Given the description of an element on the screen output the (x, y) to click on. 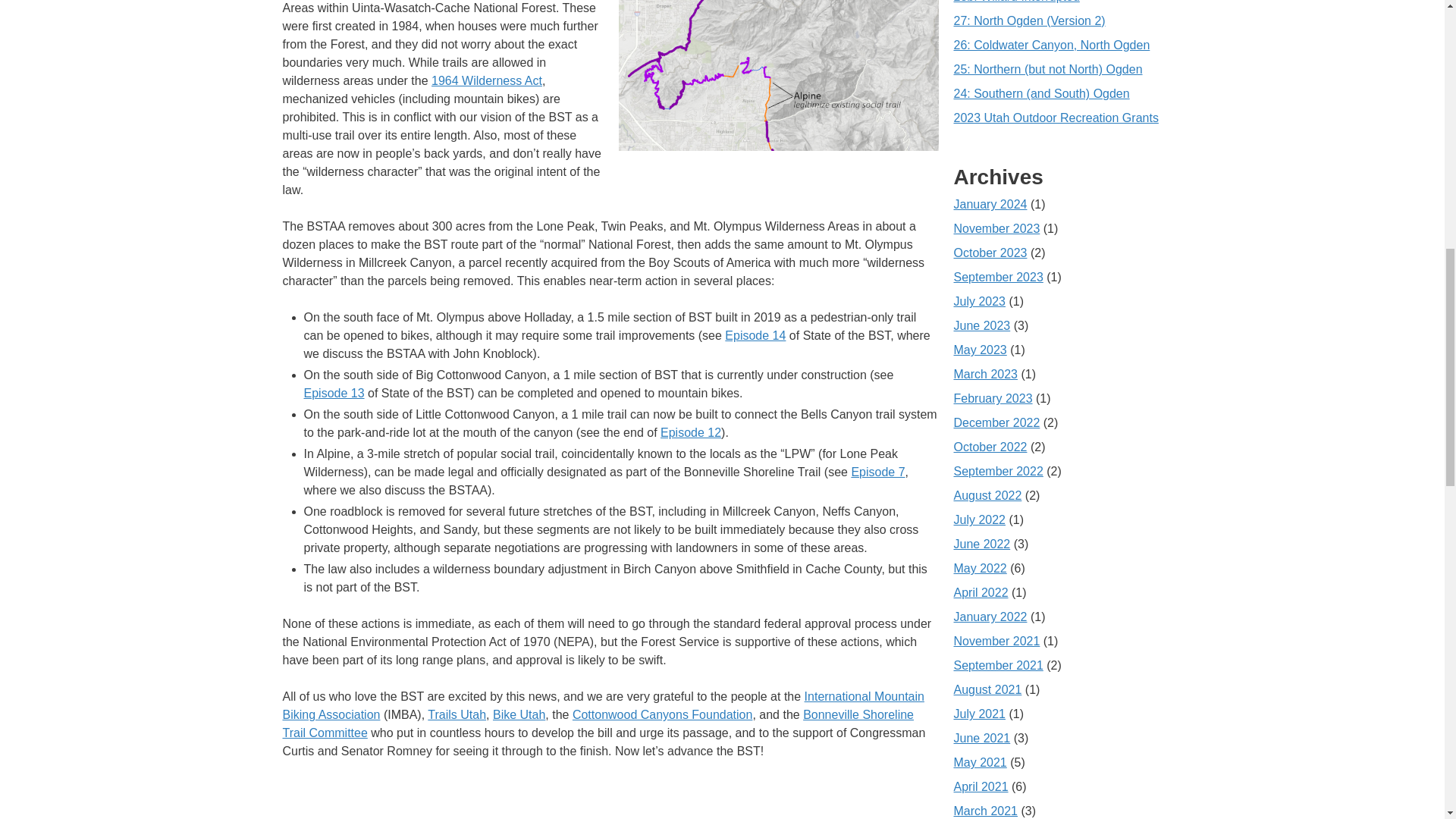
Episode 13 (333, 392)
International Mountain Biking Association (602, 705)
Bike Utah (518, 714)
Episode 7 (877, 472)
Episode 12 (690, 431)
Episode 14 (755, 335)
Bonneville Shoreline Trail Committee (598, 723)
Trails Utah (457, 714)
1964 Wilderness Act (485, 80)
Cottonwood Canyons Foundation (662, 714)
